Given the description of an element on the screen output the (x, y) to click on. 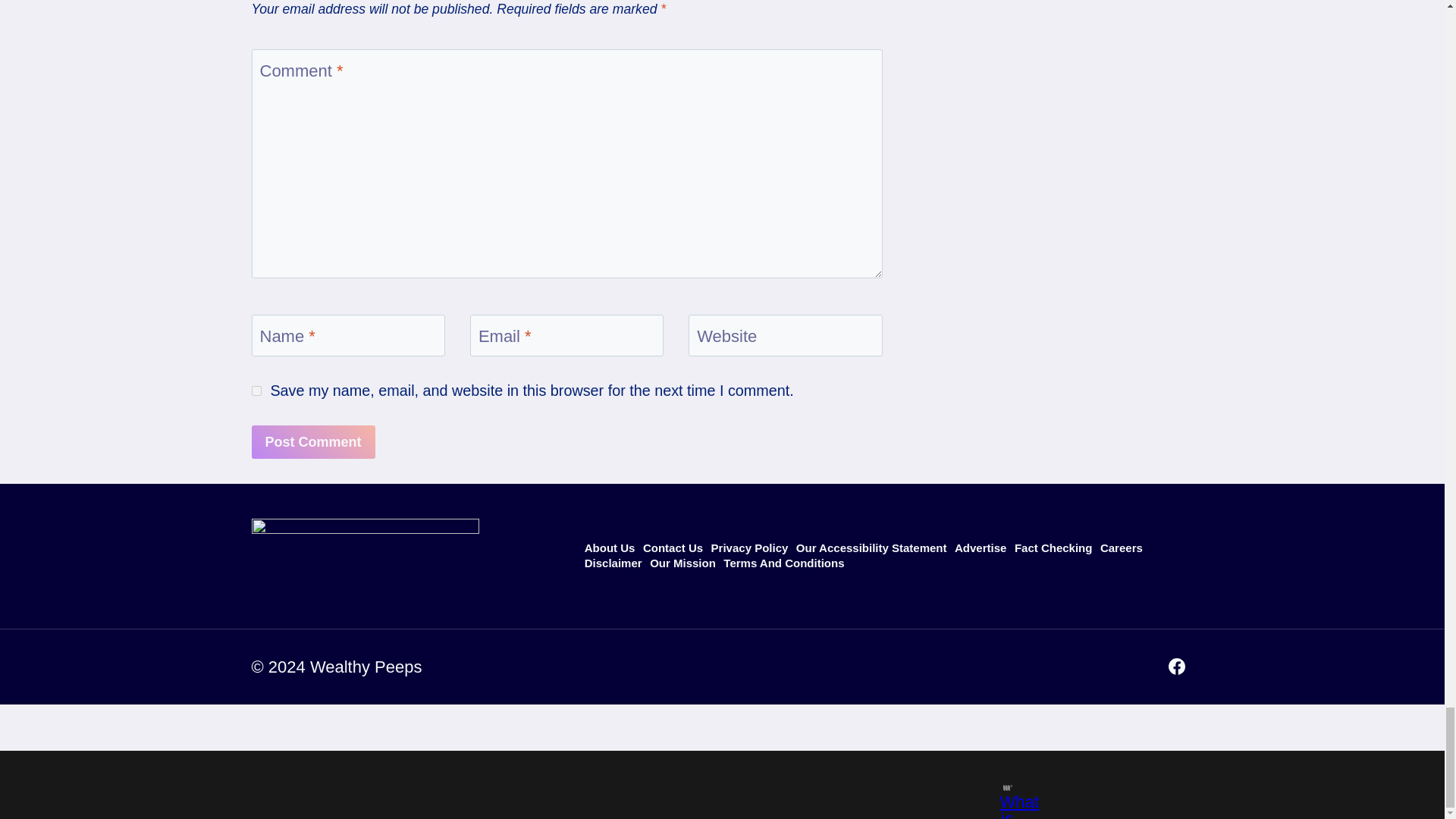
yes (256, 390)
Post Comment (313, 441)
